Given the description of an element on the screen output the (x, y) to click on. 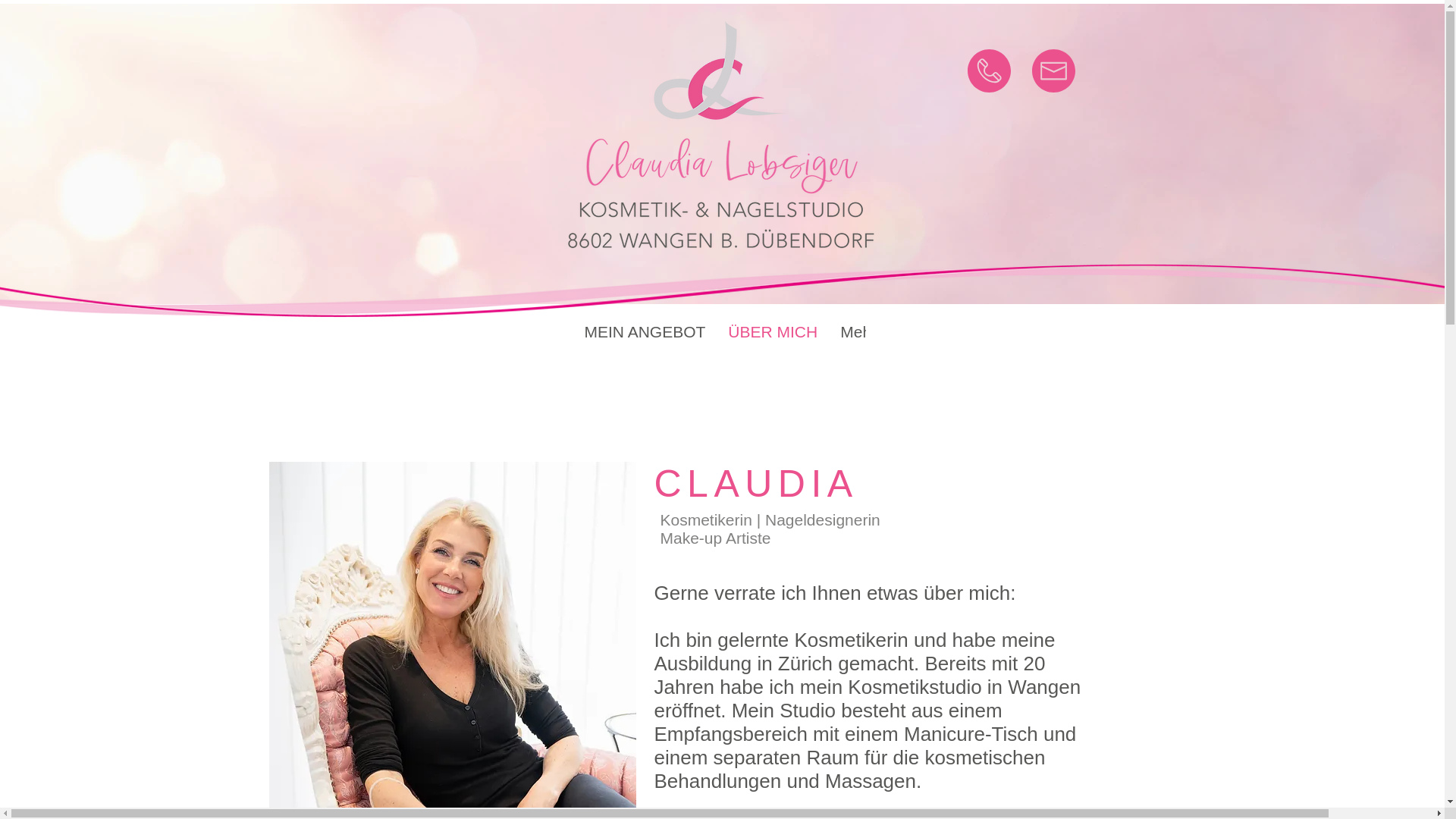
MEIN ANGEBOT Element type: text (645, 335)
